Given the description of an element on the screen output the (x, y) to click on. 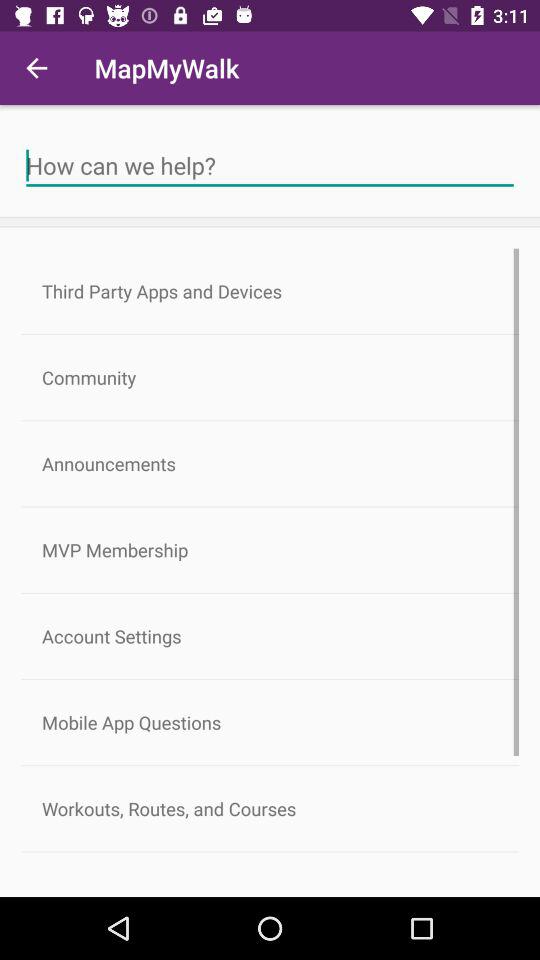
turn on the icon above the announcements item (269, 377)
